Given the description of an element on the screen output the (x, y) to click on. 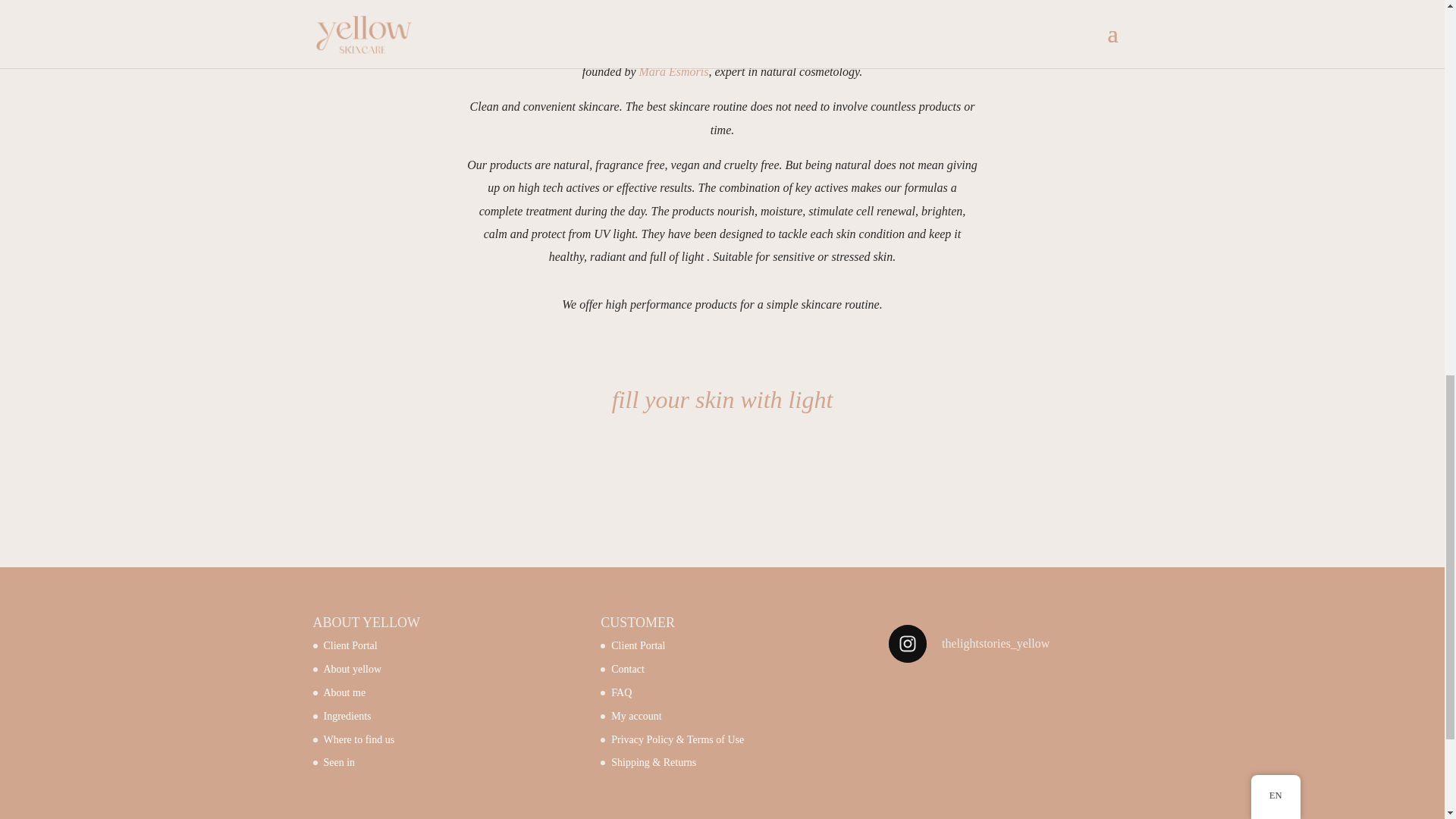
Where to find us (358, 739)
Seen in (339, 762)
Client Portal (638, 645)
Ingredients (347, 715)
My account (636, 715)
About me (344, 692)
Contact (628, 668)
FAQ (621, 692)
About yellow (352, 668)
Client Portal (350, 645)
